Given the description of an element on the screen output the (x, y) to click on. 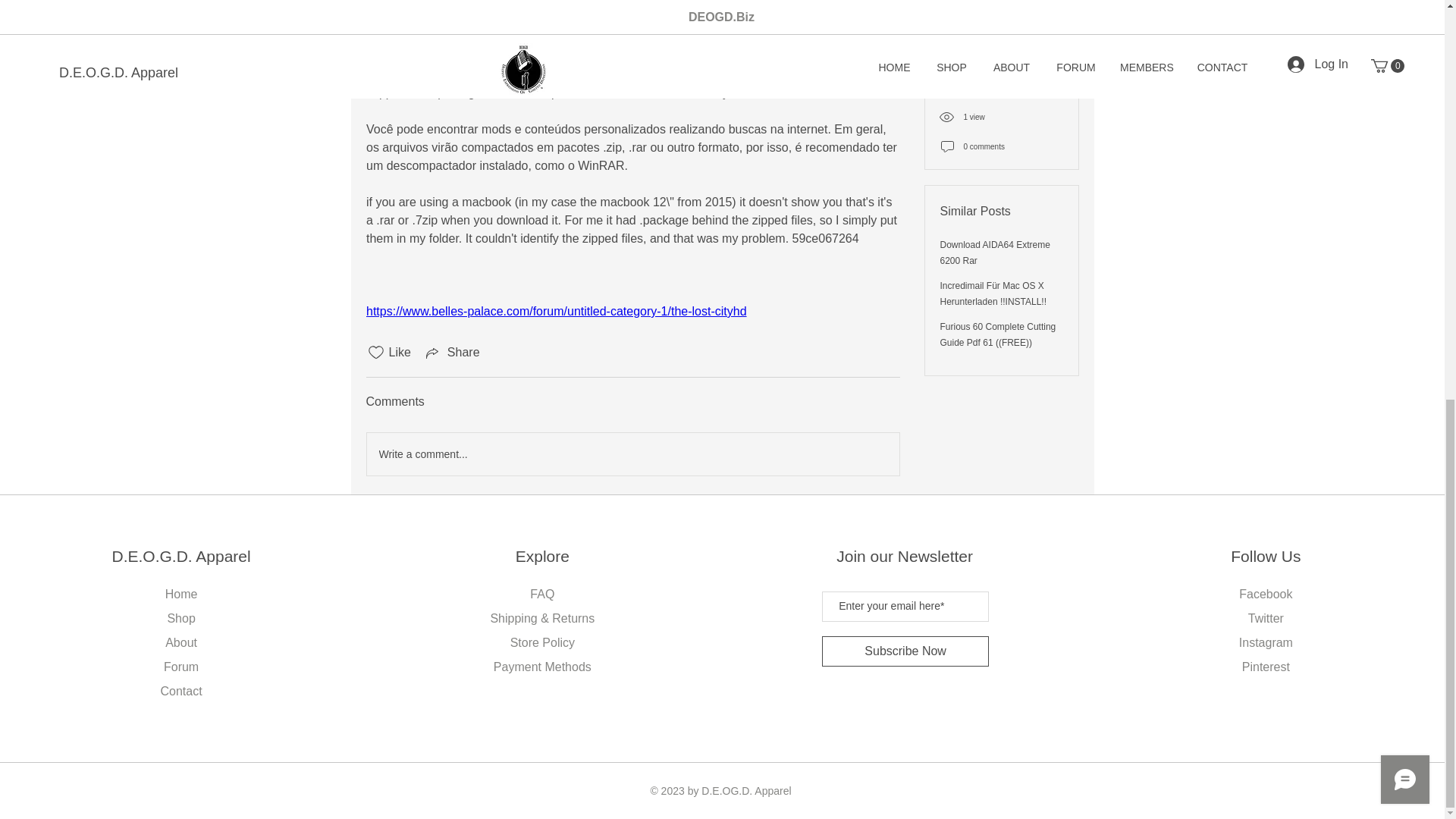
Home (181, 594)
Write a comment... (632, 454)
Contact (181, 690)
Shop (181, 617)
FAQ (541, 594)
Share (451, 352)
Store Policy (543, 642)
Download AIDA64 Extreme 6200 Rar (994, 15)
Pinterest (1265, 666)
Forum (180, 666)
About (180, 642)
Twitter (1265, 617)
Instagram (1265, 642)
Subscribe Now (905, 651)
Facebook (1265, 594)
